Given the description of an element on the screen output the (x, y) to click on. 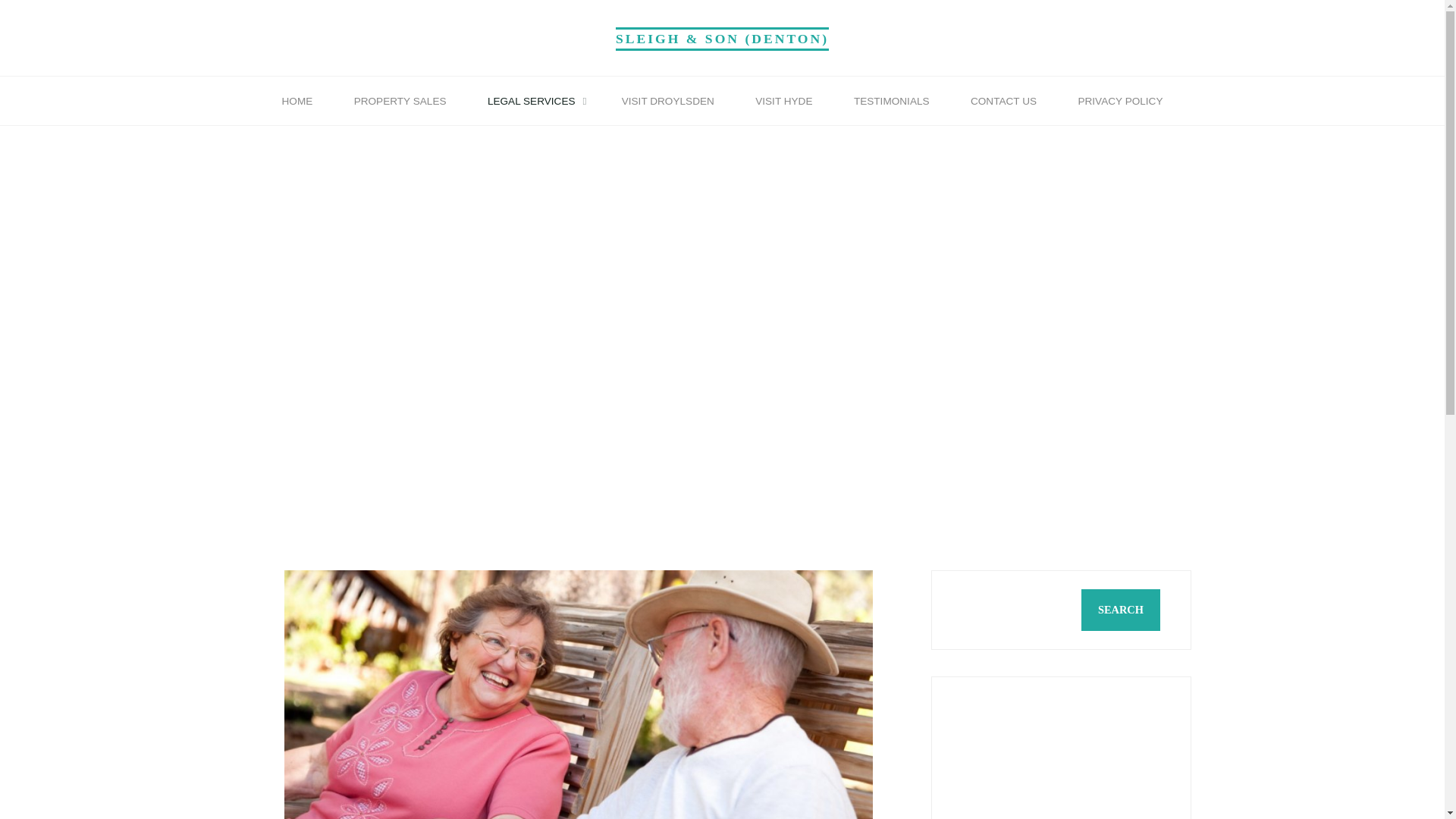
TESTIMONIALS (891, 101)
SEARCH (1347, 609)
HOME (296, 101)
PROPERTY SALES (399, 101)
VISIT DROYLSDEN (668, 101)
LEGAL SERVICES (534, 101)
PRIVACY POLICY (1119, 101)
VISIT HYDE (783, 101)
CONTACT US (1003, 101)
